Given the description of an element on the screen output the (x, y) to click on. 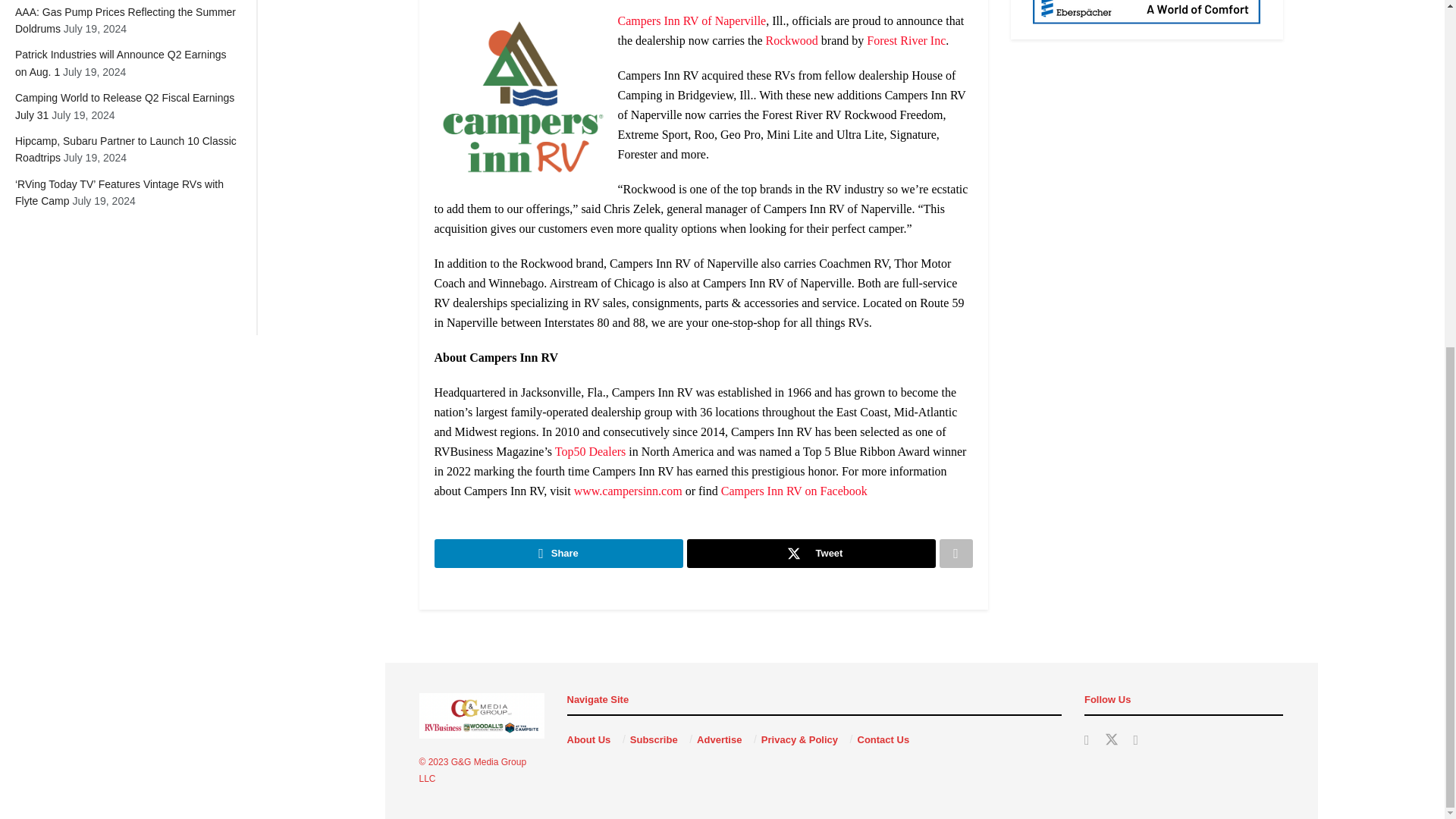
Camping World to Release Q2 Fiscal Earnings July 31 (124, 105)
Hipcamp, Subaru Partner to Launch 10 Classic Roadtrips (124, 149)
AAA: Gas Pump Prices Reflecting the Summer Doldrums (124, 20)
Patrick Industries will Announce Q2 Earnings on Aug. 1 (120, 62)
